Given the description of an element on the screen output the (x, y) to click on. 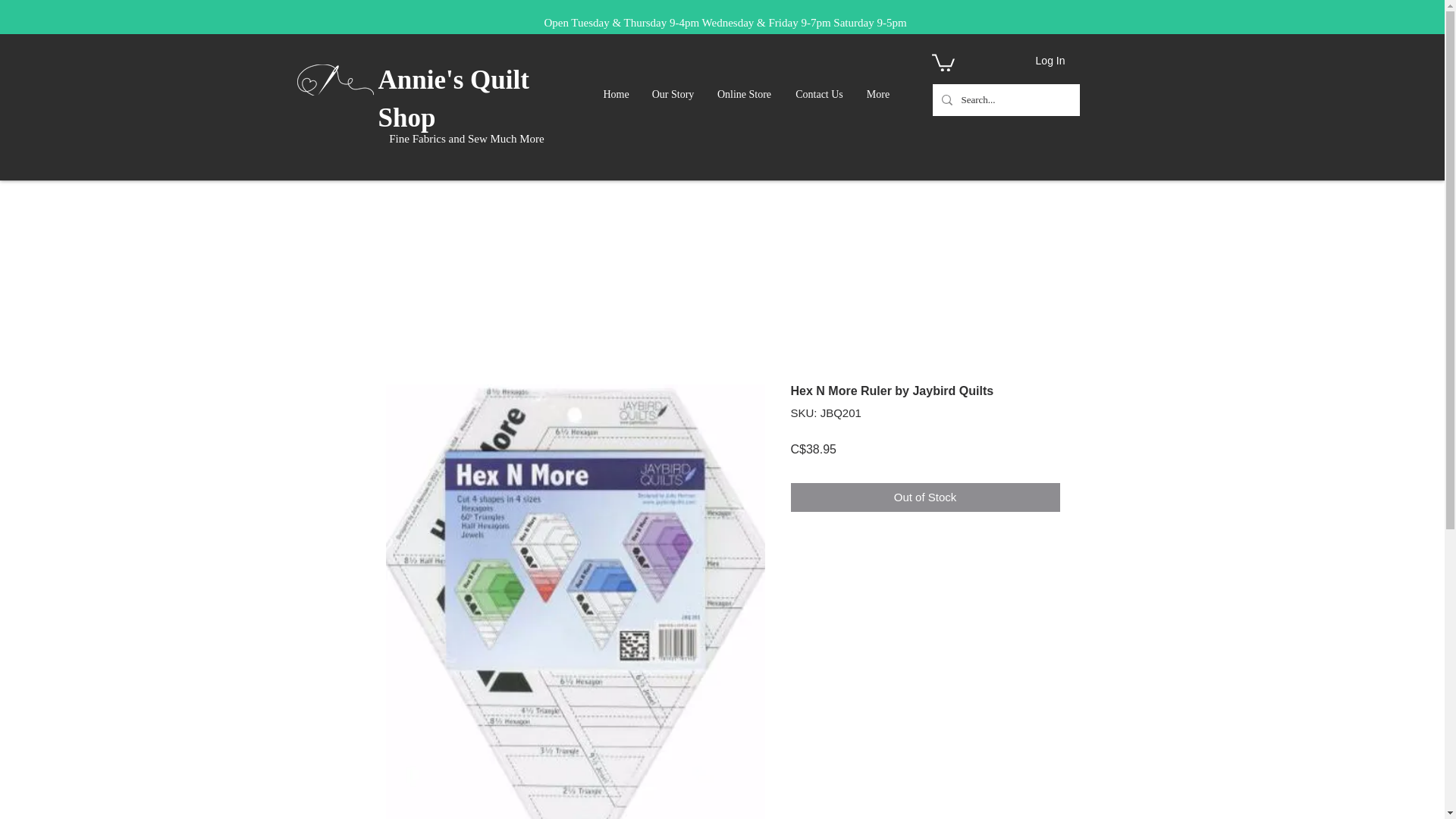
Online Store (743, 94)
Our Story (672, 94)
Contact Us (819, 94)
Home (615, 94)
Annie's Quilt Shop (452, 98)
Fine Fabrics and Sew Much More (466, 138)
